Given the description of an element on the screen output the (x, y) to click on. 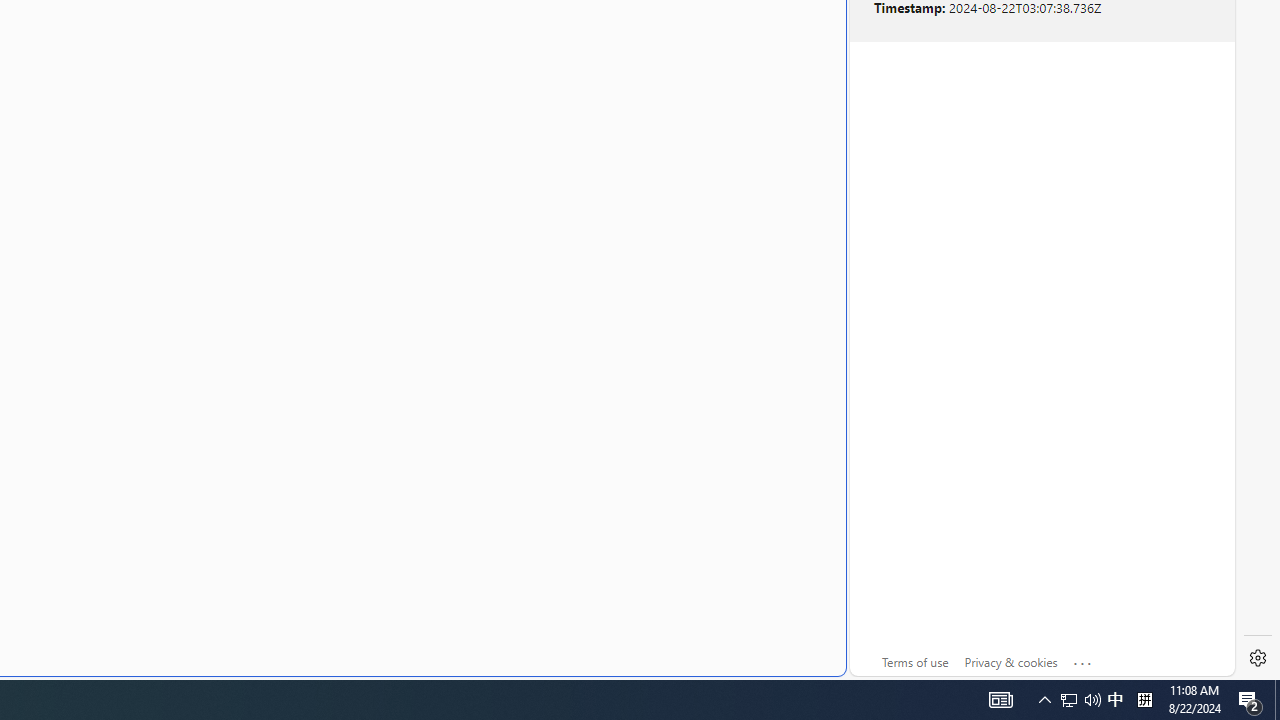
Click here for troubleshooting information (1083, 659)
Privacy & cookies (1010, 662)
Settings (1258, 658)
Terms of use (914, 662)
